Given the description of an element on the screen output the (x, y) to click on. 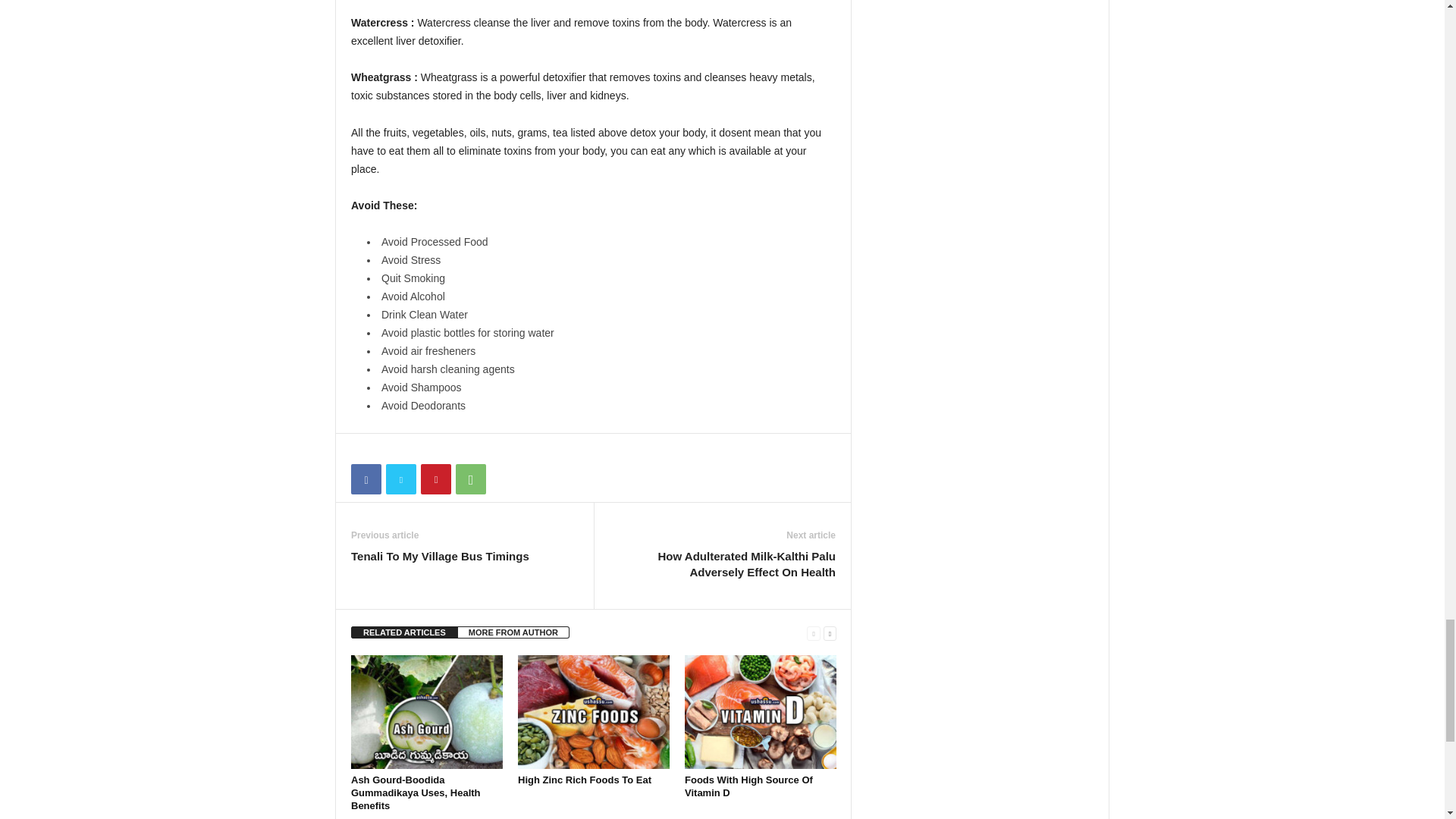
How Adulterated Milk-Kalthi Palu Adversely Effect On Health (721, 563)
WhatsApp (470, 479)
RELATED ARTICLES (404, 632)
bottomFacebookLike (390, 449)
Twitter (400, 479)
Pinterest (435, 479)
MORE FROM AUTHOR (513, 632)
Facebook (365, 479)
Tenali To My Village Bus Timings (439, 555)
